Given the description of an element on the screen output the (x, y) to click on. 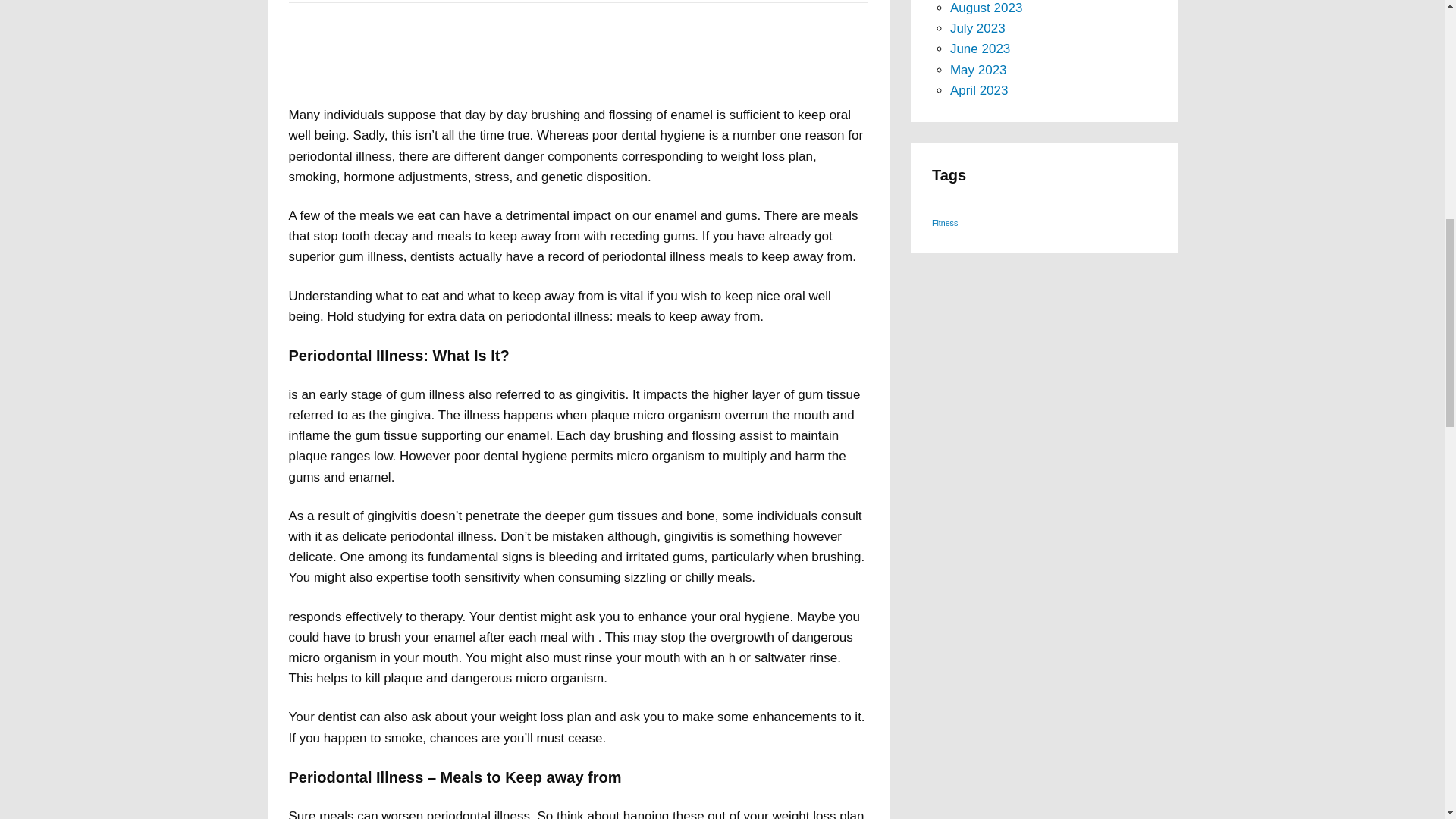
May 2023 (978, 69)
July 2023 (978, 28)
June 2023 (980, 48)
April 2023 (979, 90)
August 2023 (986, 7)
Fitness (944, 223)
